Given the description of an element on the screen output the (x, y) to click on. 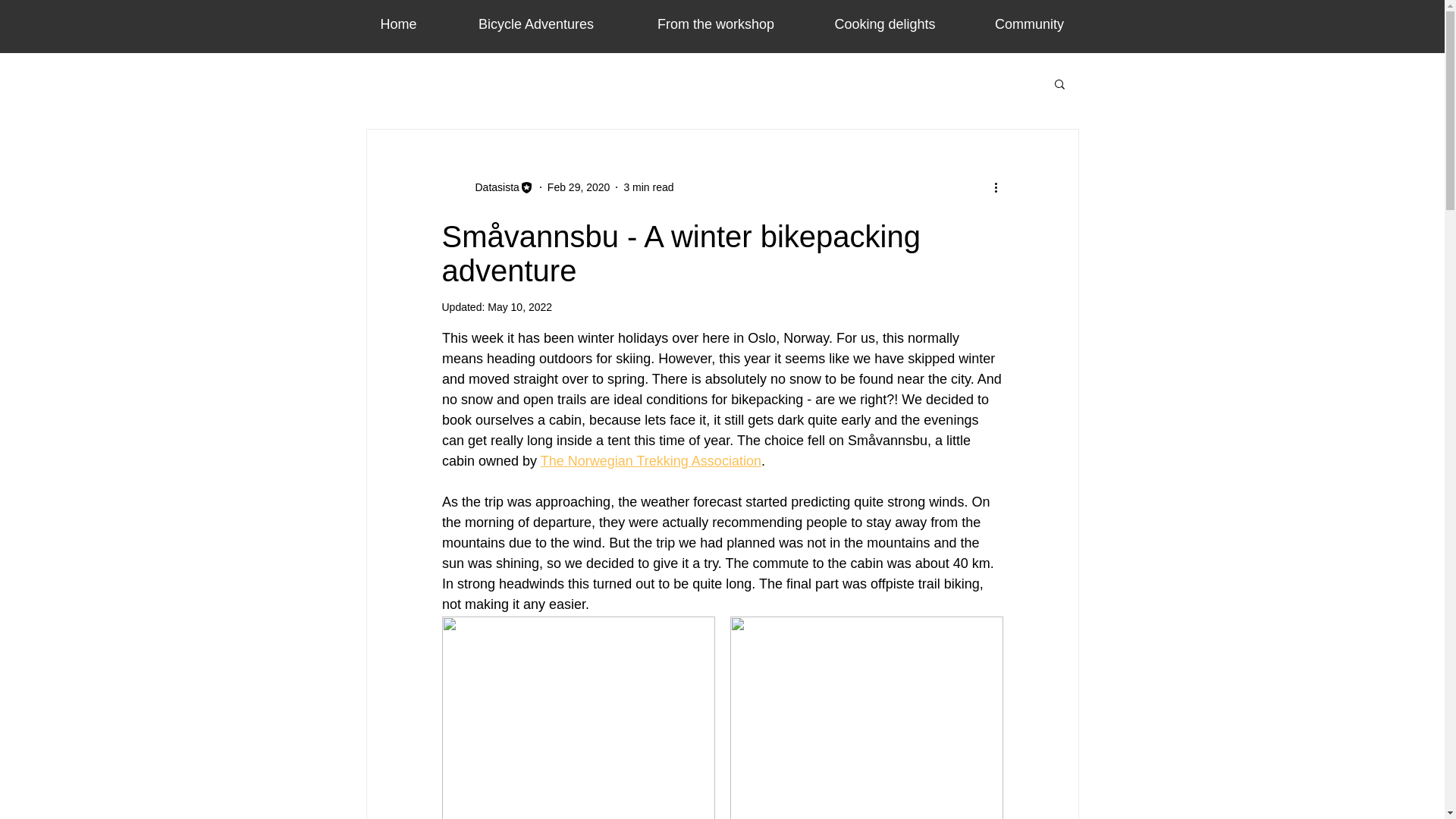
3 min read (647, 186)
Feb 29, 2020 (578, 186)
Community (1028, 24)
Cooking delights (885, 24)
May 10, 2022 (519, 306)
The Norwegian Trekking Association (650, 460)
Datasista (491, 186)
Bicycle Adventures (536, 24)
From the workshop (715, 24)
Home (398, 24)
